Given the description of an element on the screen output the (x, y) to click on. 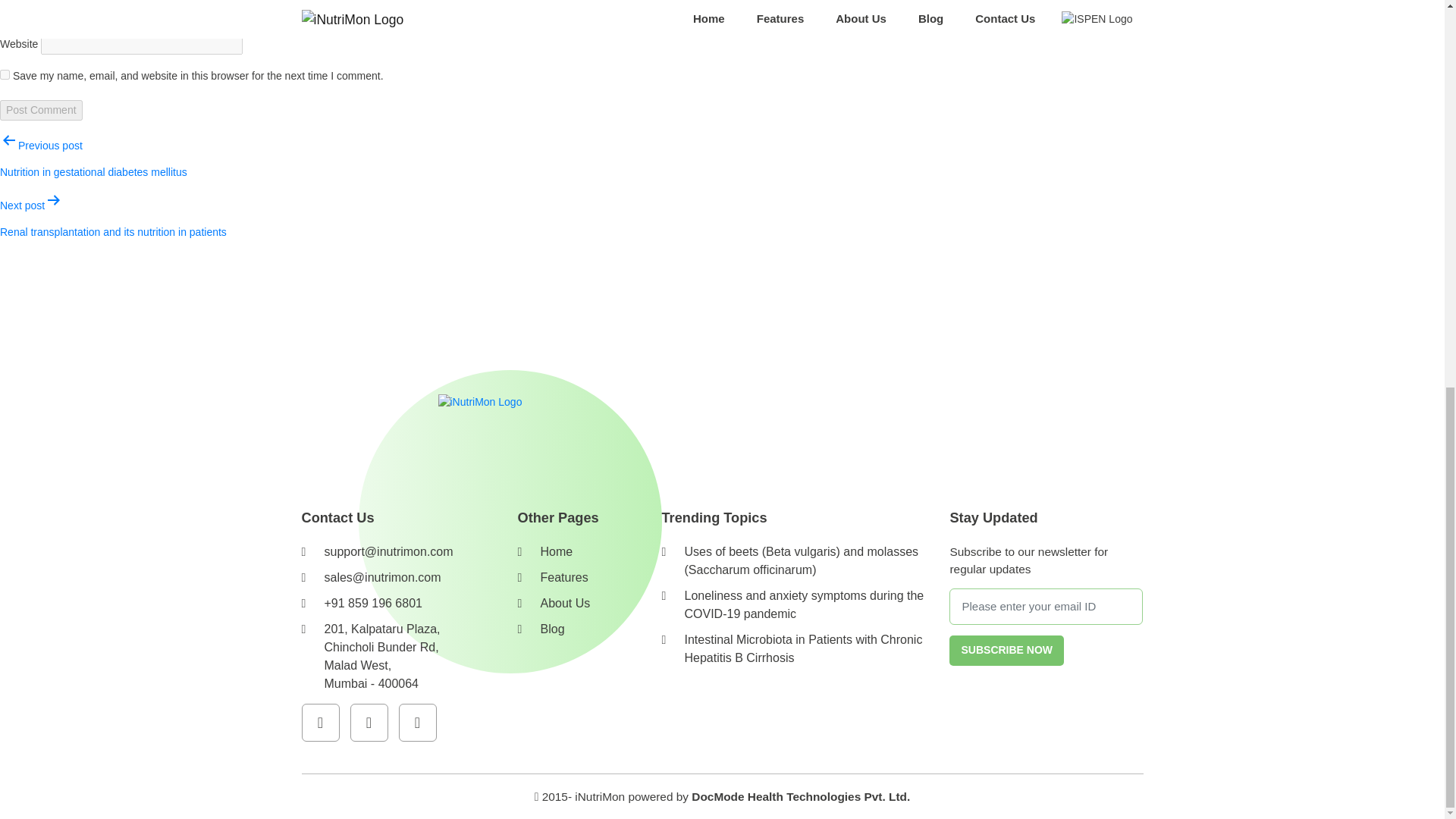
Loneliness and anxiety symptoms during the COVID-19 pandemic (803, 603)
yes (5, 74)
Post Comment (41, 109)
Features (564, 576)
SUBSCRIBE NOW (1006, 650)
Home (556, 551)
Blog (552, 628)
About Us (564, 603)
Post Comment (41, 109)
